Given the description of an element on the screen output the (x, y) to click on. 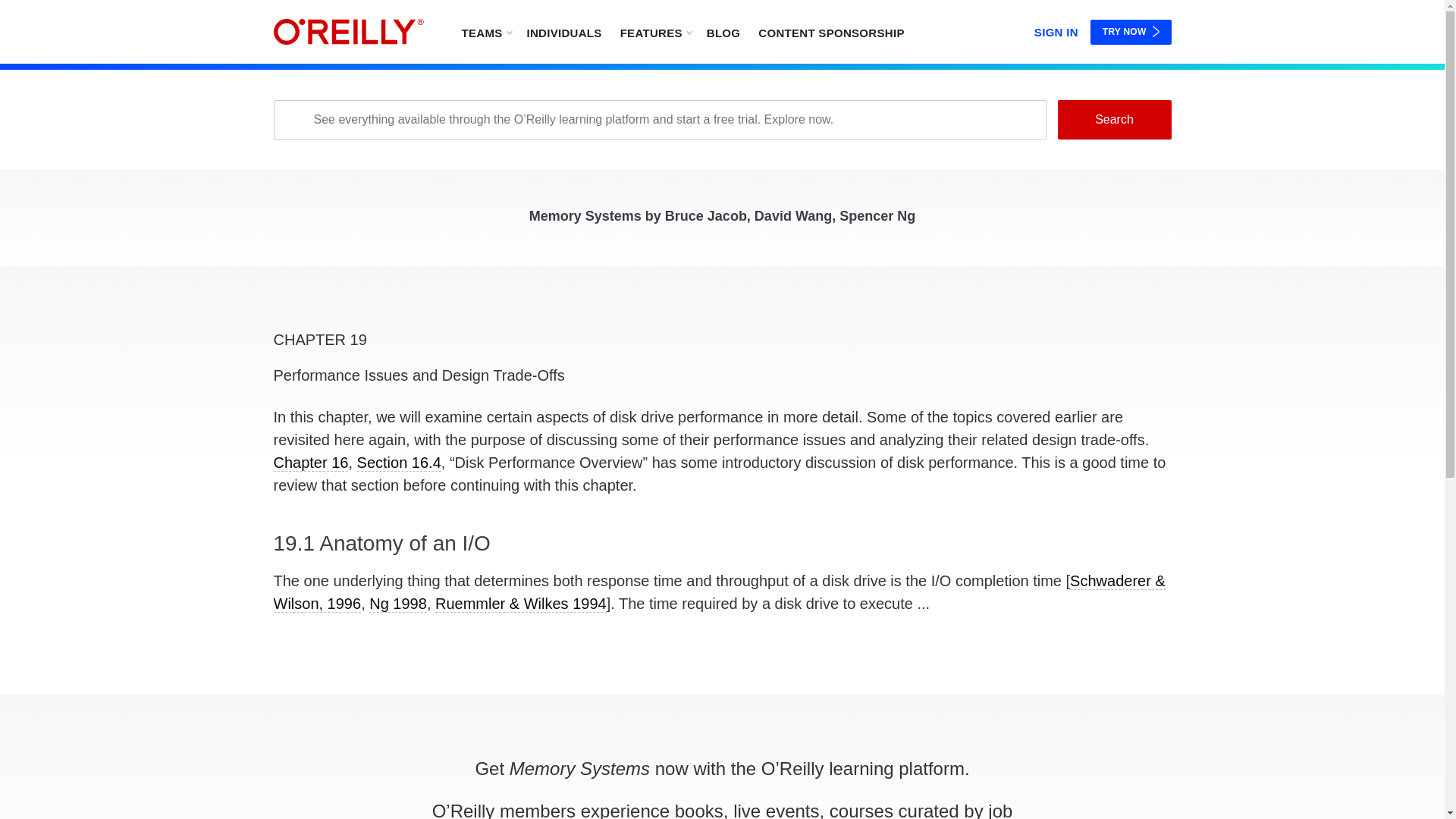
FEATURES (655, 31)
BLOG (723, 31)
Search (1113, 119)
home page (348, 31)
Ng 1998 (397, 603)
TEAMS (486, 31)
INDIVIDUALS (563, 31)
SIGN IN (1055, 29)
Memory Systems by Bruce Jacob, David Wang, Spencer Ng (722, 219)
Search (1113, 119)
